Given the description of an element on the screen output the (x, y) to click on. 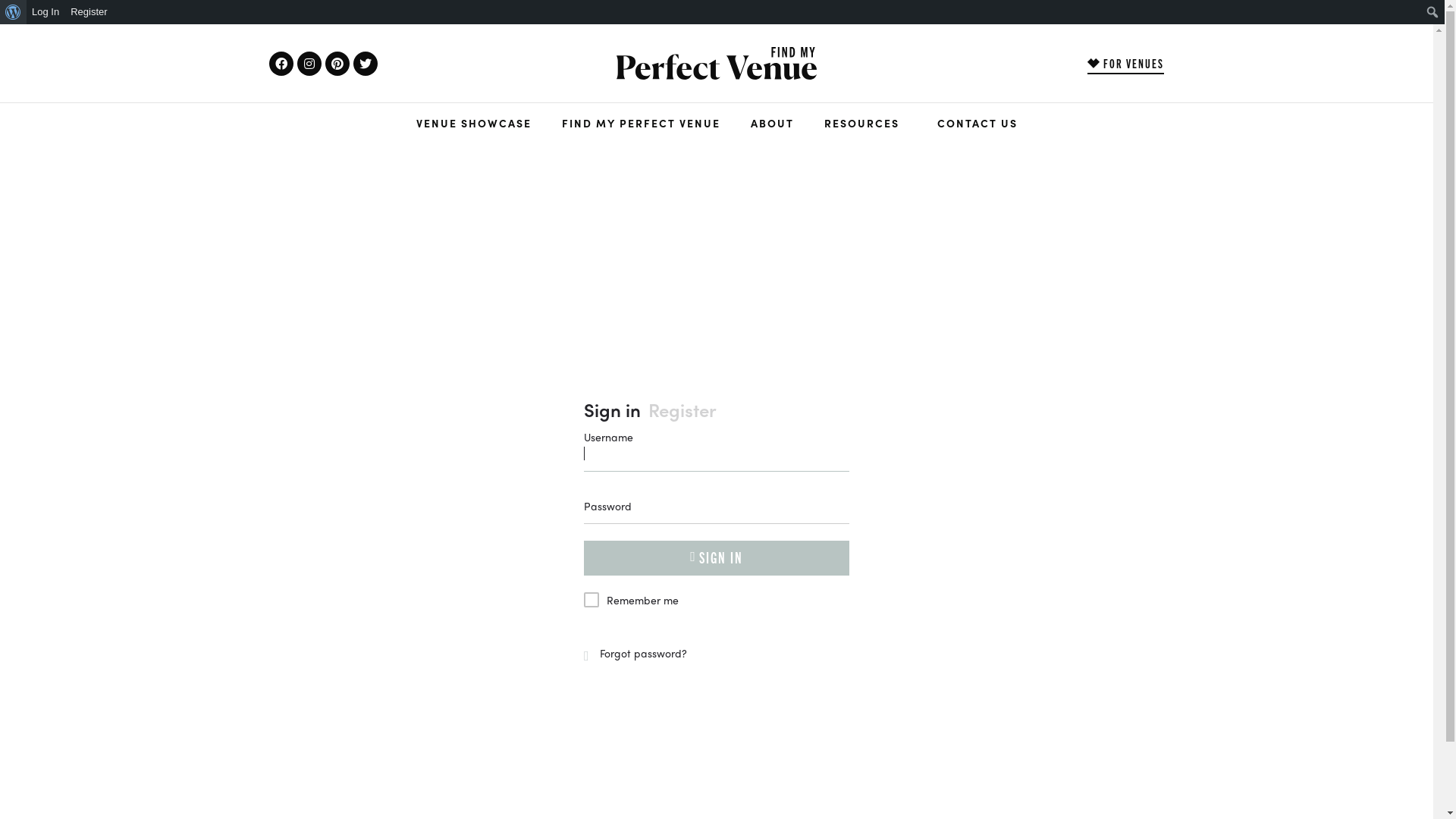
SIGN IN Element type: text (716, 557)
Register Element type: text (88, 12)
Register Element type: text (682, 409)
RESOURCES Element type: text (864, 122)
FOR VENUES Element type: text (1125, 63)
FIND MY PERFECT VENUE Element type: text (640, 122)
Log In Element type: text (45, 12)
Search Element type: text (15, 12)
Forgot password? Element type: text (635, 652)
ABOUT Element type: text (772, 122)
VENUE SHOWCASE Element type: text (473, 122)
Sign in Element type: text (611, 409)
CONTACT US Element type: text (977, 122)
